Given the description of an element on the screen output the (x, y) to click on. 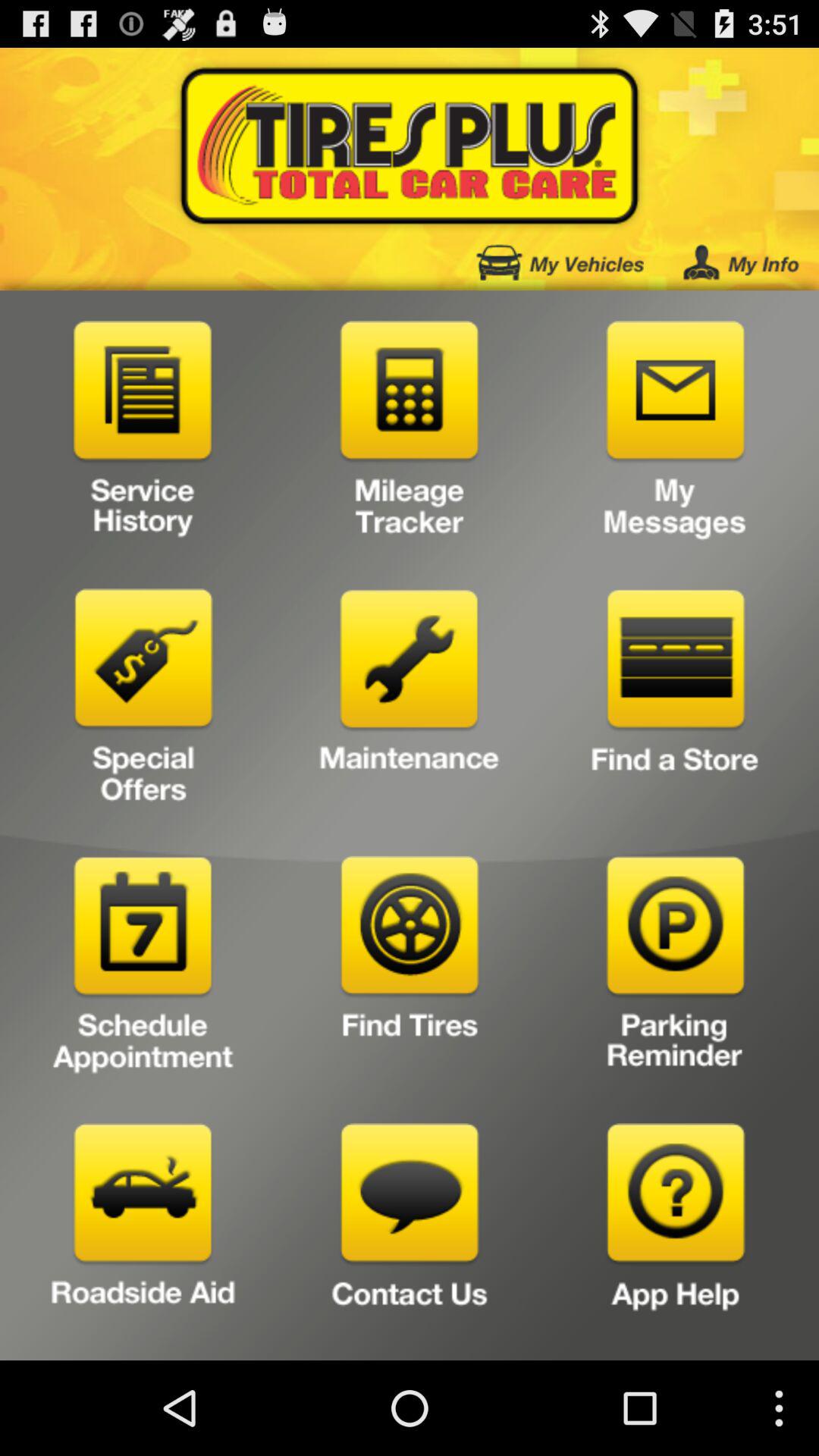
choose contact icon (409, 1236)
